Given the description of an element on the screen output the (x, y) to click on. 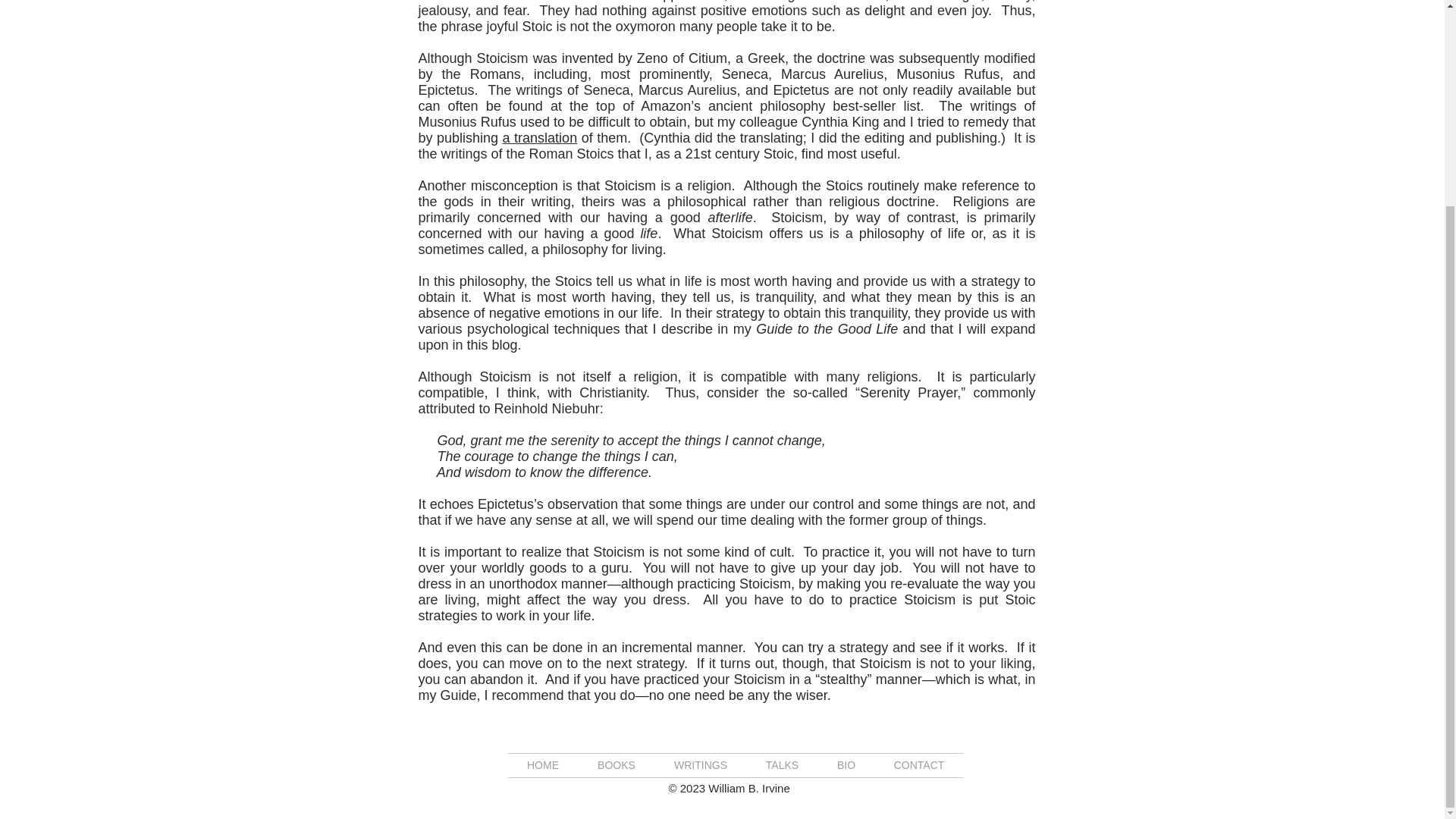
WRITINGS (700, 765)
BIO (845, 765)
CONTACT (919, 765)
BOOKS (615, 765)
HOME (543, 765)
TALKS (780, 765)
a translation (540, 137)
